Given the description of an element on the screen output the (x, y) to click on. 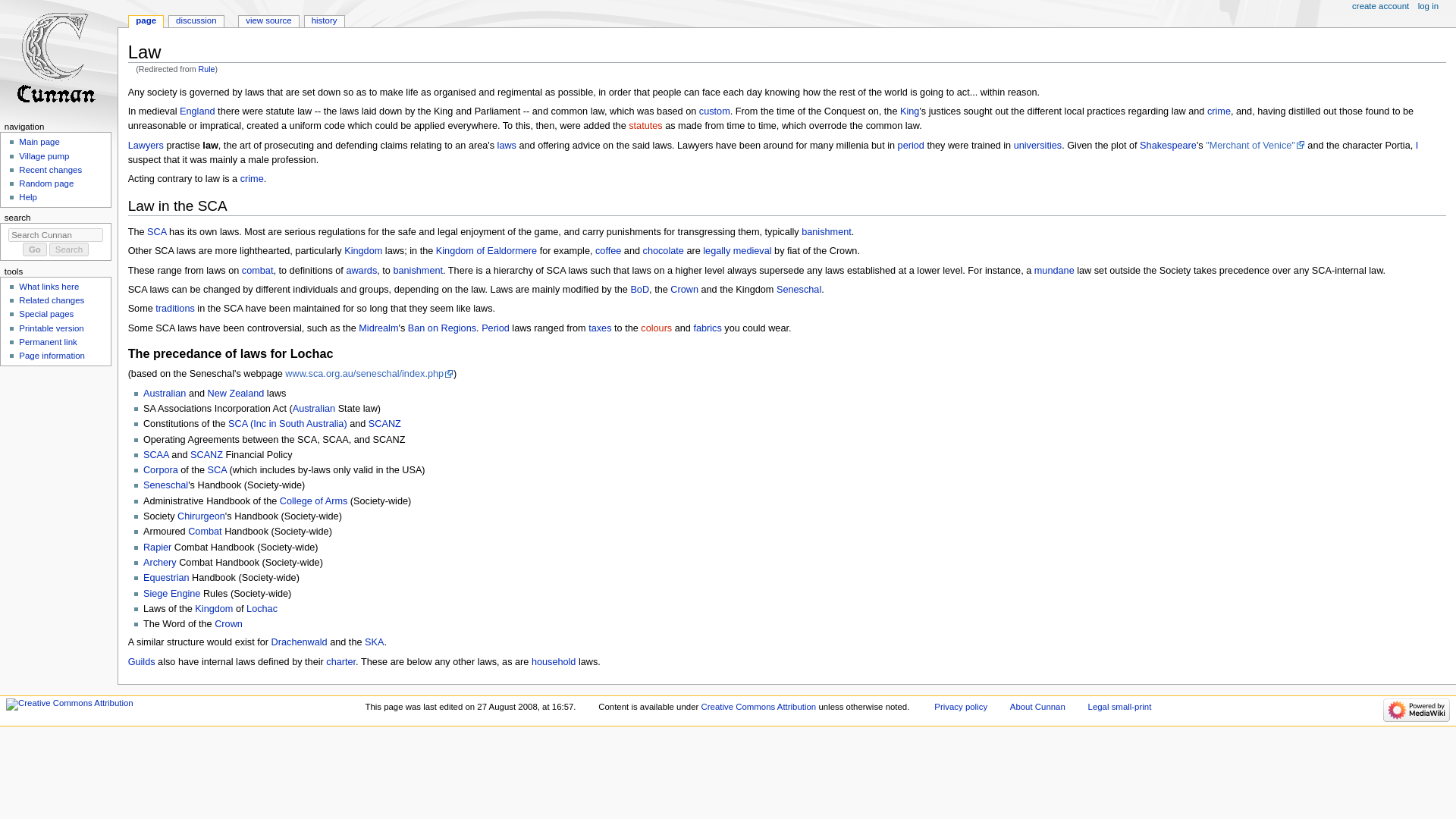
banishment (826, 231)
coffee (608, 250)
colours (655, 327)
Shakespeare (1168, 145)
Coffee (608, 250)
banishment (417, 270)
SCA (156, 231)
statutes (645, 125)
Seneschal (798, 289)
Go (34, 245)
SCA (156, 231)
fabrics (706, 327)
King (908, 111)
Search (68, 245)
